Given the description of an element on the screen output the (x, y) to click on. 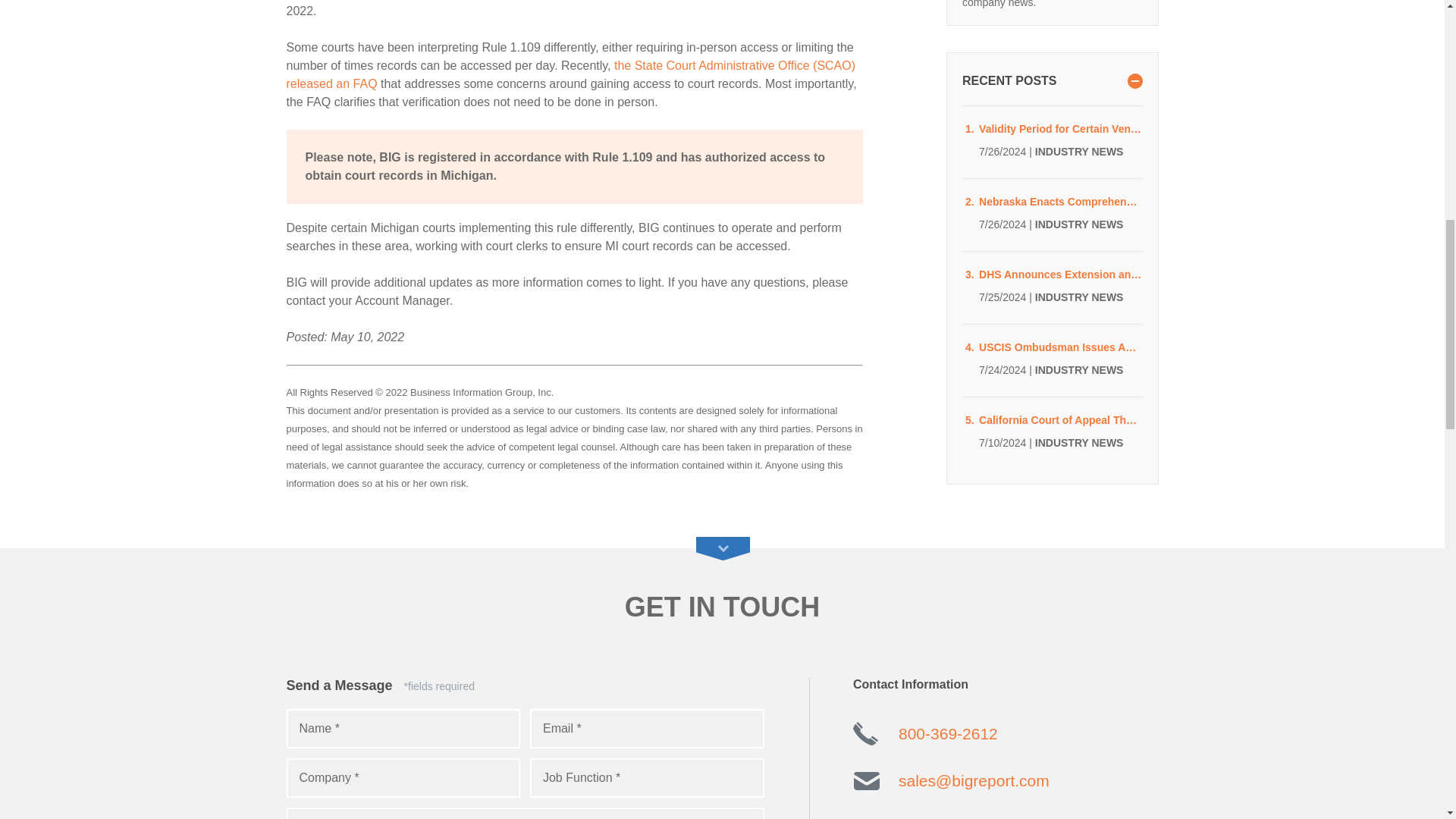
RECENT POSTS (1051, 81)
Nebraska Enacts Comprehensive Consumer Data Privacy Law (1059, 201)
Validity Period for Certain Venezuelan Passports Extended (1059, 128)
DHS Announces Extension and Redesignation of TPS for Somalia (1059, 273)
800-369-2612 (947, 733)
USCIS Ombudsman Issues Annual Report to Congress (1059, 346)
